Given the description of an element on the screen output the (x, y) to click on. 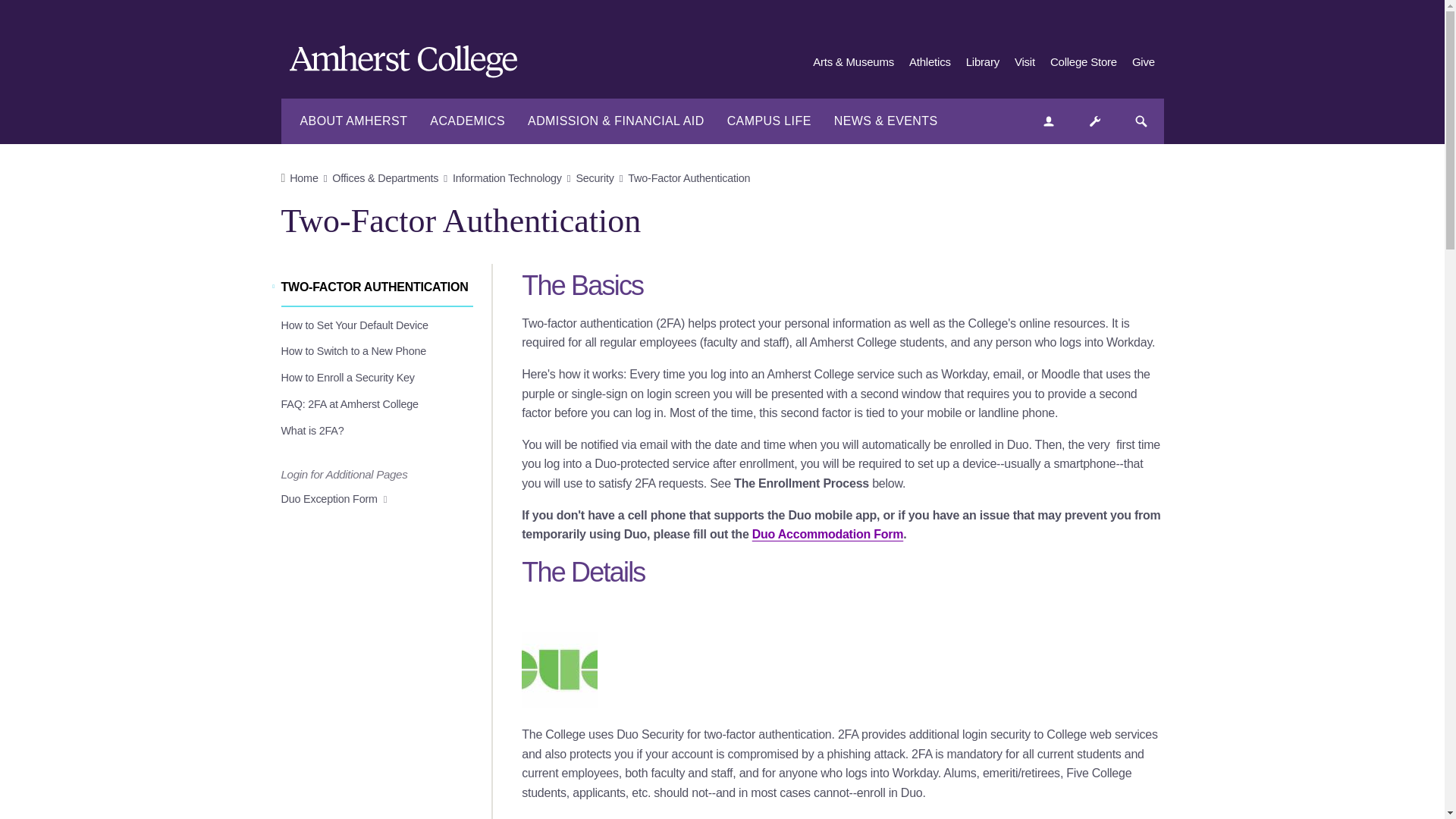
Library (982, 62)
CAMPUS LIFE (768, 121)
College Store (1082, 62)
Give (1143, 62)
Athletics (929, 62)
ACADEMICS (467, 121)
ABOUT AMHERST (353, 121)
Visit (1024, 62)
Amherst College (410, 64)
